Given the description of an element on the screen output the (x, y) to click on. 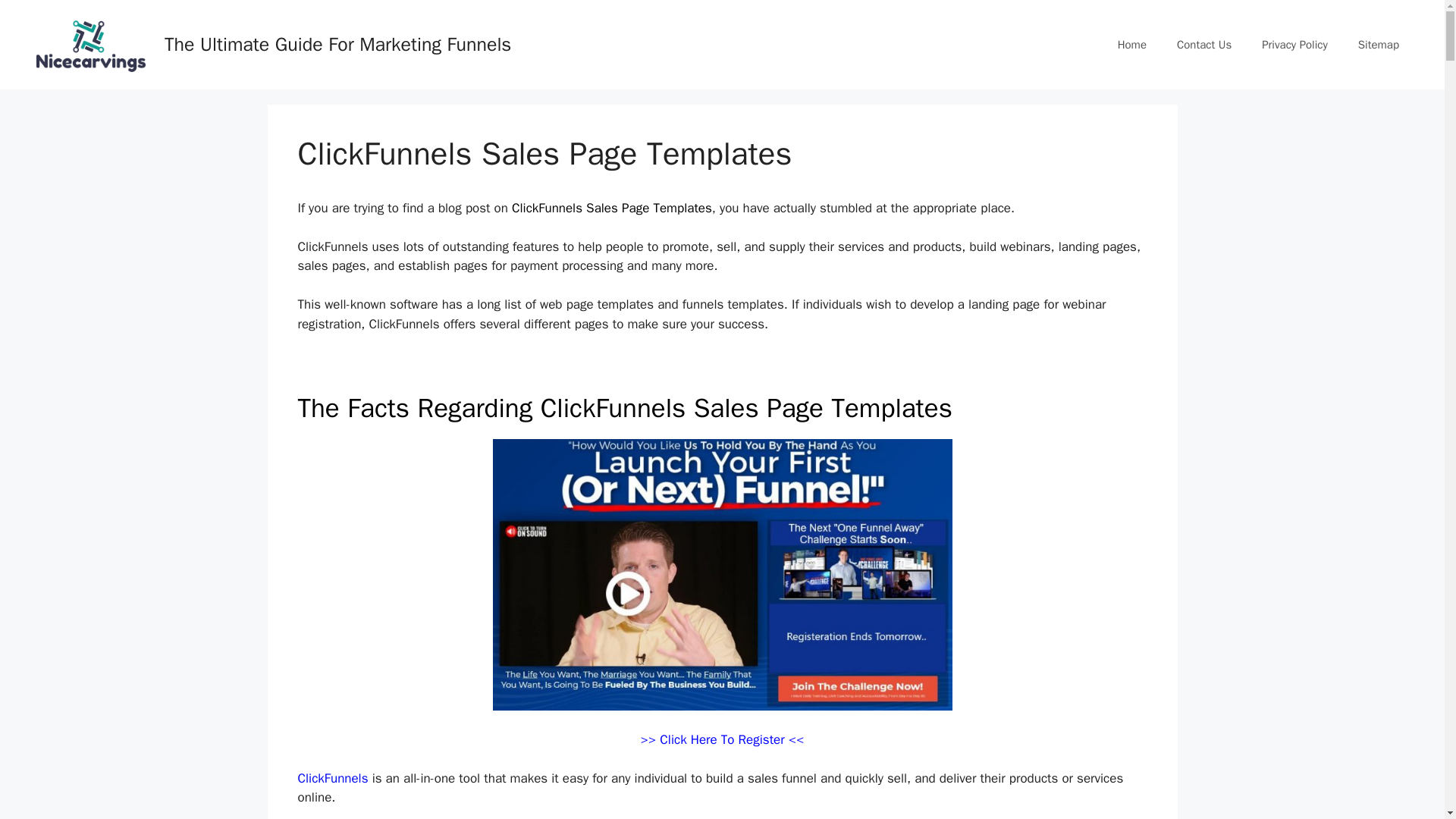
Contact Us (1203, 44)
Sitemap (1377, 44)
Home (1131, 44)
The Ultimate Guide For Marketing Funnels (337, 44)
ClickFunnels (332, 778)
Privacy Policy (1294, 44)
